Given the description of an element on the screen output the (x, y) to click on. 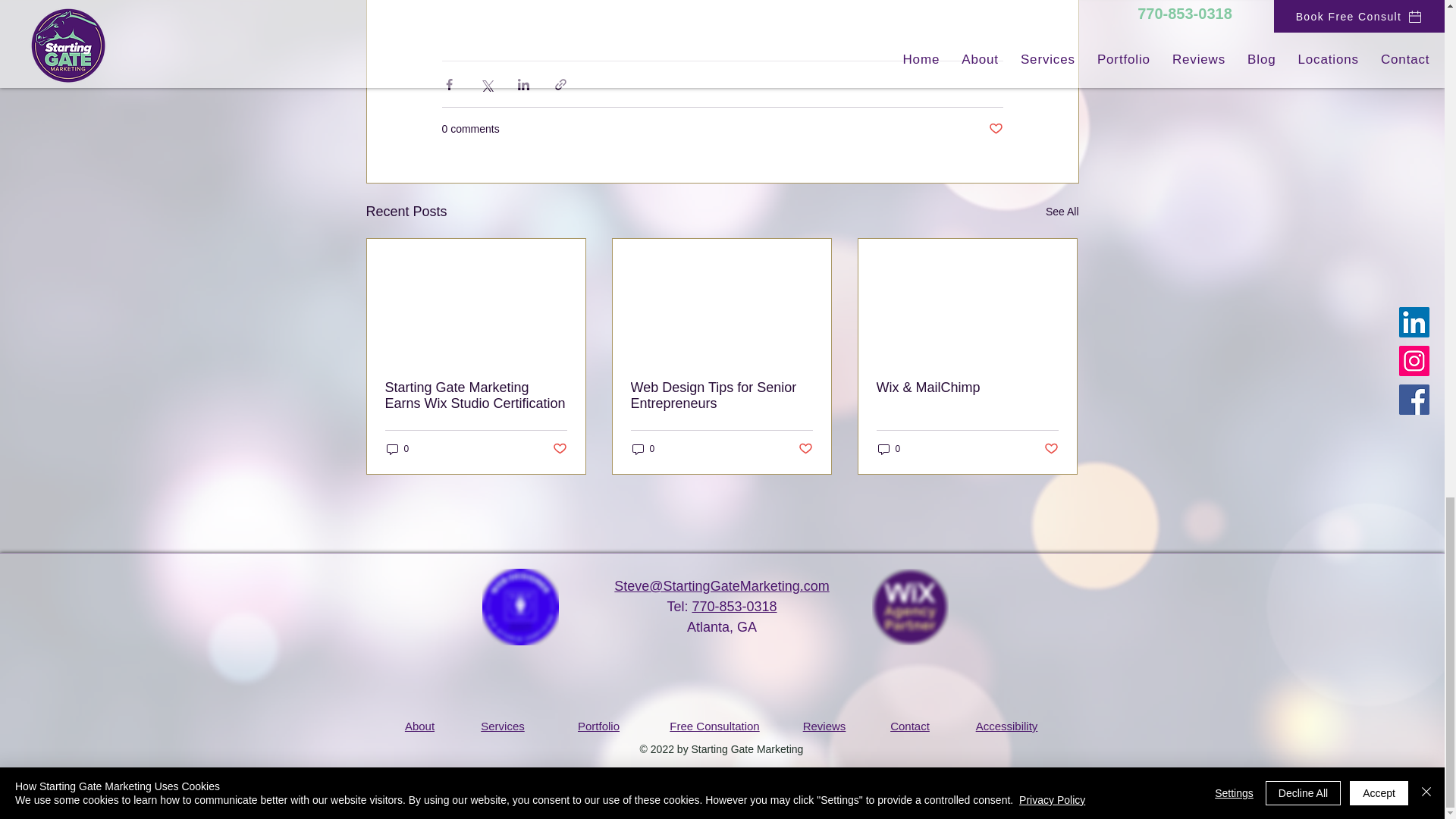
Starting Gate Marketing LLC-Badge.png (520, 606)
